Given the description of an element on the screen output the (x, y) to click on. 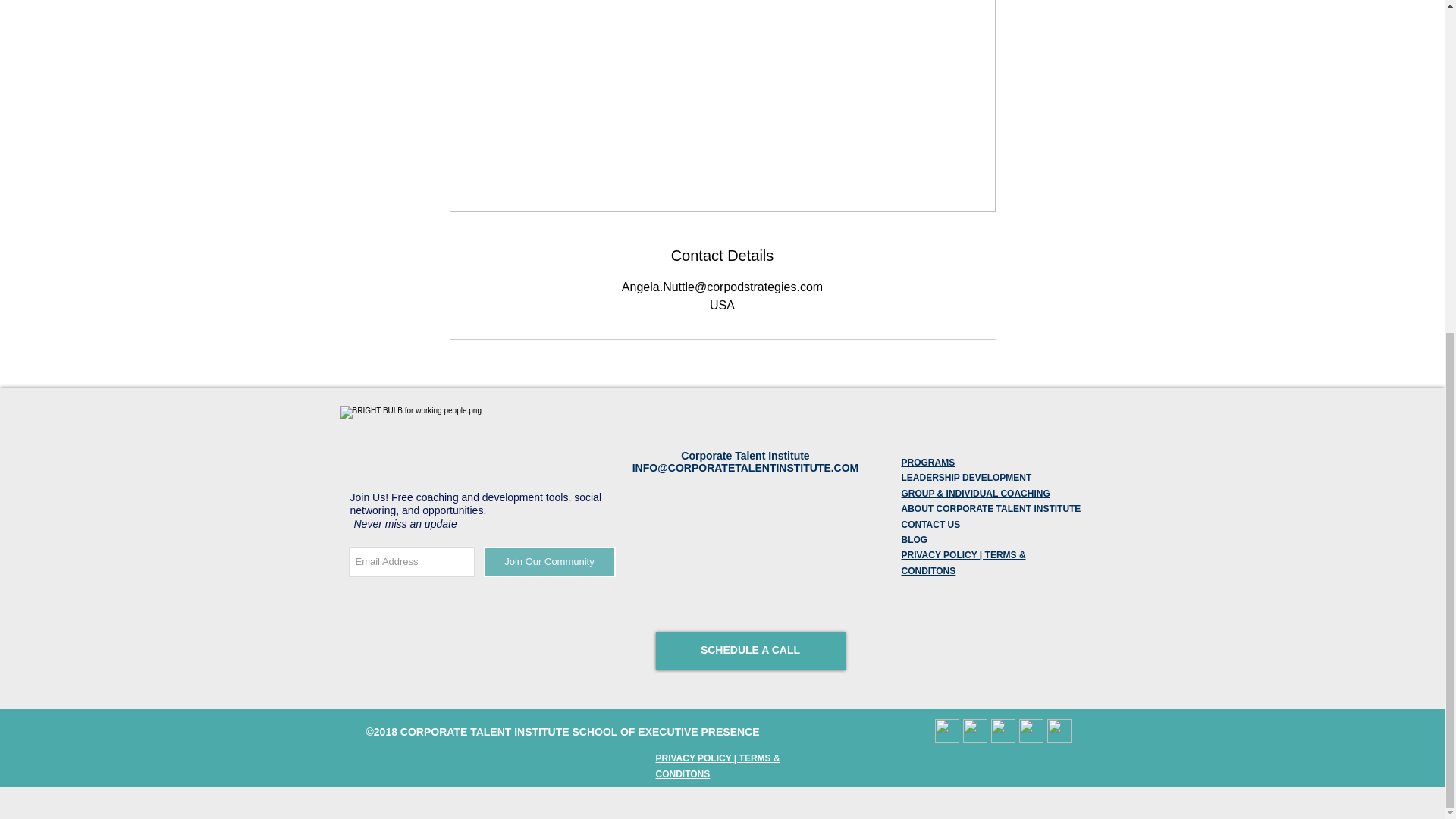
SCHEDULE A CALL (749, 650)
BLOG (914, 539)
CONTACT US (930, 524)
LEADERSHIP DEVELOPMENT (965, 477)
ABOUT CORPORATE TALENT INSTITUTE (990, 508)
PROGRAMS (928, 462)
Join Our Community (549, 562)
